Given the description of an element on the screen output the (x, y) to click on. 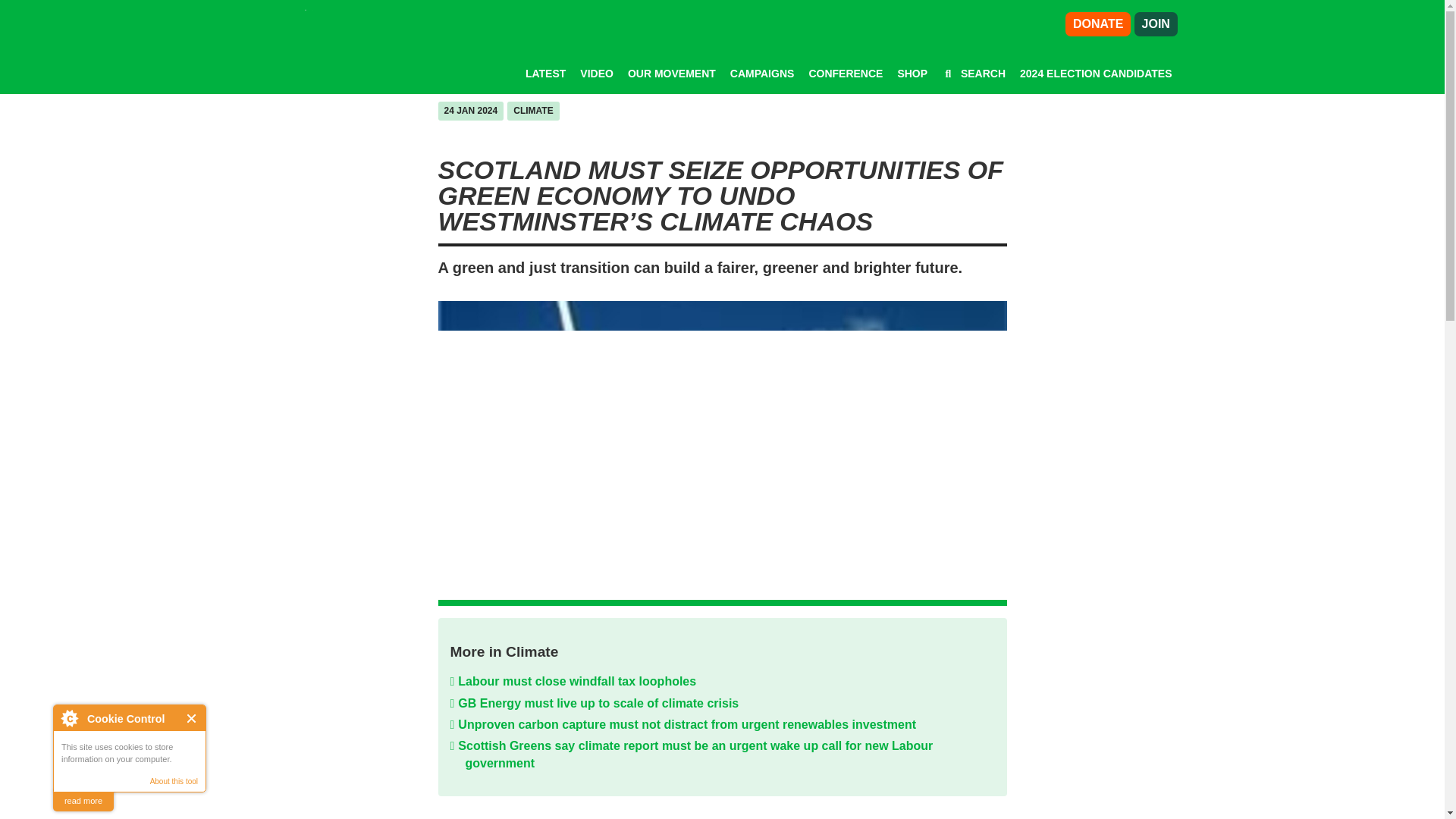
CONFERENCE (845, 73)
OUR MOVEMENT (671, 73)
Search (974, 73)
About this tool (173, 781)
About Cookie Control (68, 718)
CLIMATE (533, 110)
GB Energy must live up to scale of climate crisis (729, 703)
read more (82, 801)
VIDEO (595, 73)
Close (191, 718)
Labour must close windfall tax loopholes (729, 681)
DONATE (1098, 24)
LATEST (545, 73)
2024 ELECTION CANDIDATES (1096, 73)
